Given the description of an element on the screen output the (x, y) to click on. 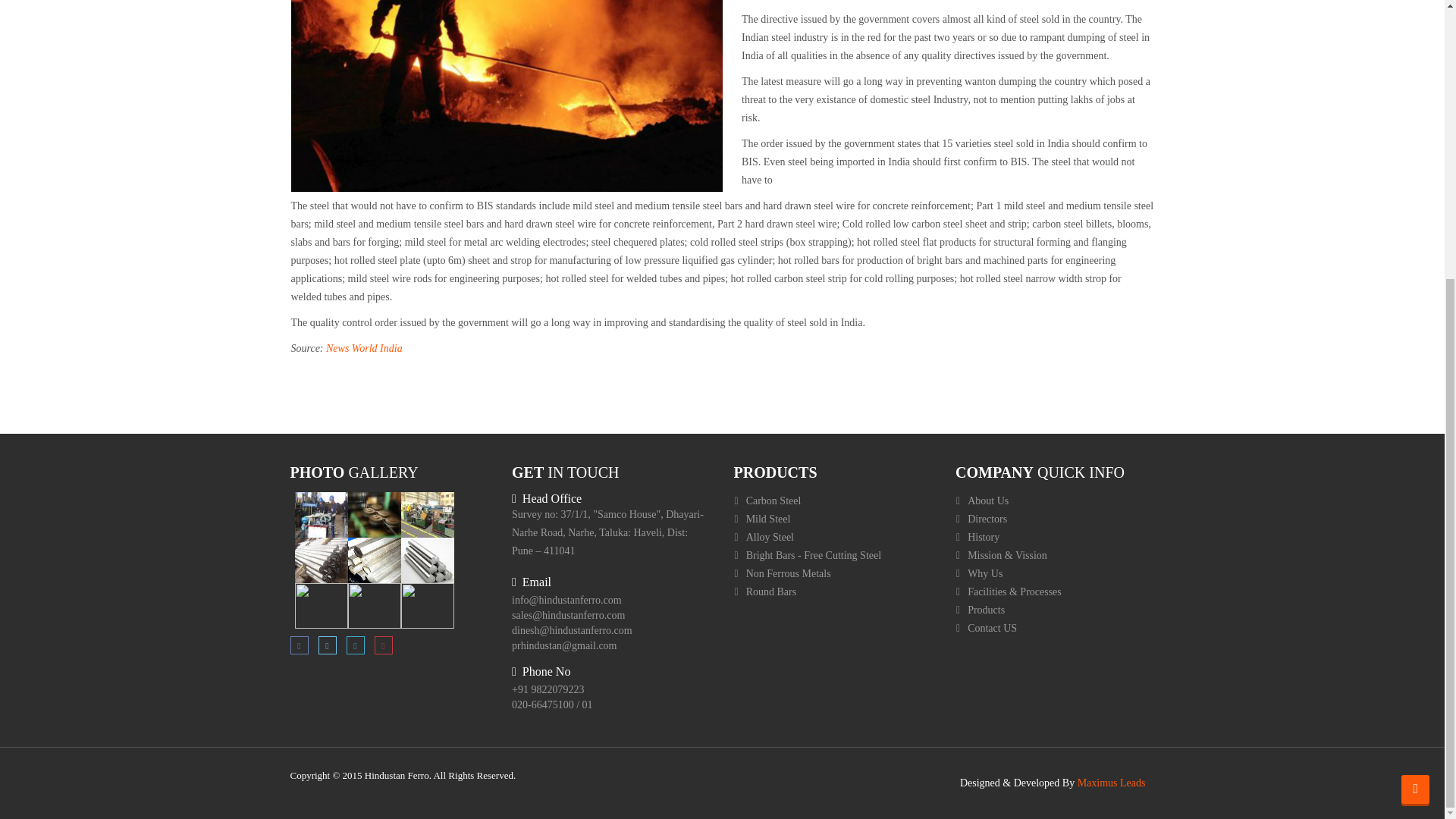
News World India (364, 348)
Mild Steel Bright Bars (374, 559)
P3 (427, 513)
Twitter (328, 645)
Case Hardening and Alloy Steel Bars  (427, 604)
Facebook (299, 645)
Back to Top (1414, 374)
P2 (374, 513)
linkedin (356, 645)
Carbon Steel (773, 500)
